Given the description of an element on the screen output the (x, y) to click on. 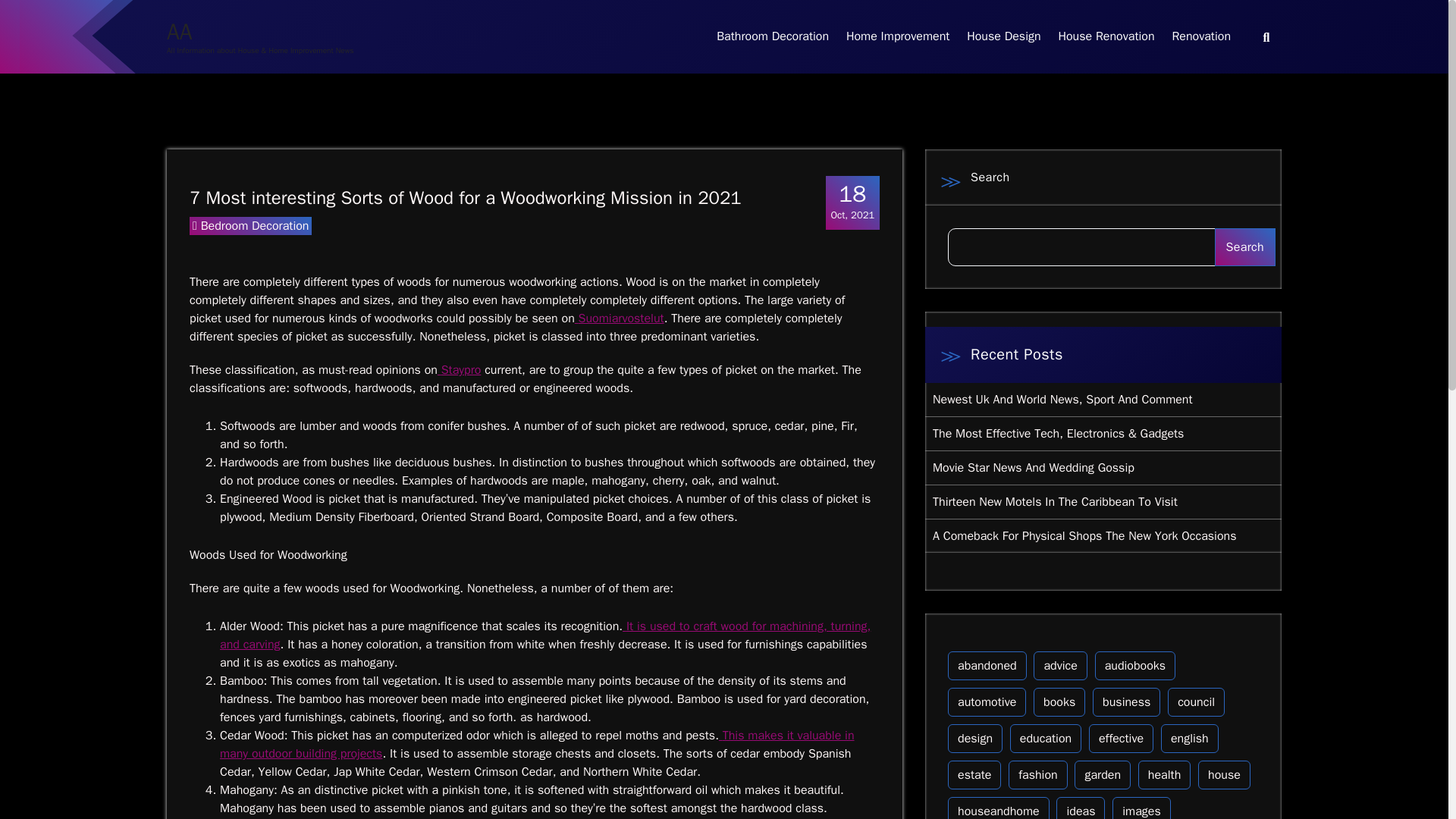
Newest Uk And World News, Sport And Comment (1062, 399)
Suomiarvostelut (620, 318)
A Comeback For Physical Shops The New York Occasions (1084, 536)
abandoned (986, 665)
AA (179, 31)
Bathroom Decoration (772, 36)
House Design (852, 201)
Bedroom Decoration (1003, 36)
It is used to craft wood for machining, turning, and carving (254, 225)
Bathroom Decoration (544, 635)
House Renovation (772, 36)
Search (1105, 36)
Home Improvement (1244, 247)
Home Improvement (897, 36)
